Given the description of an element on the screen output the (x, y) to click on. 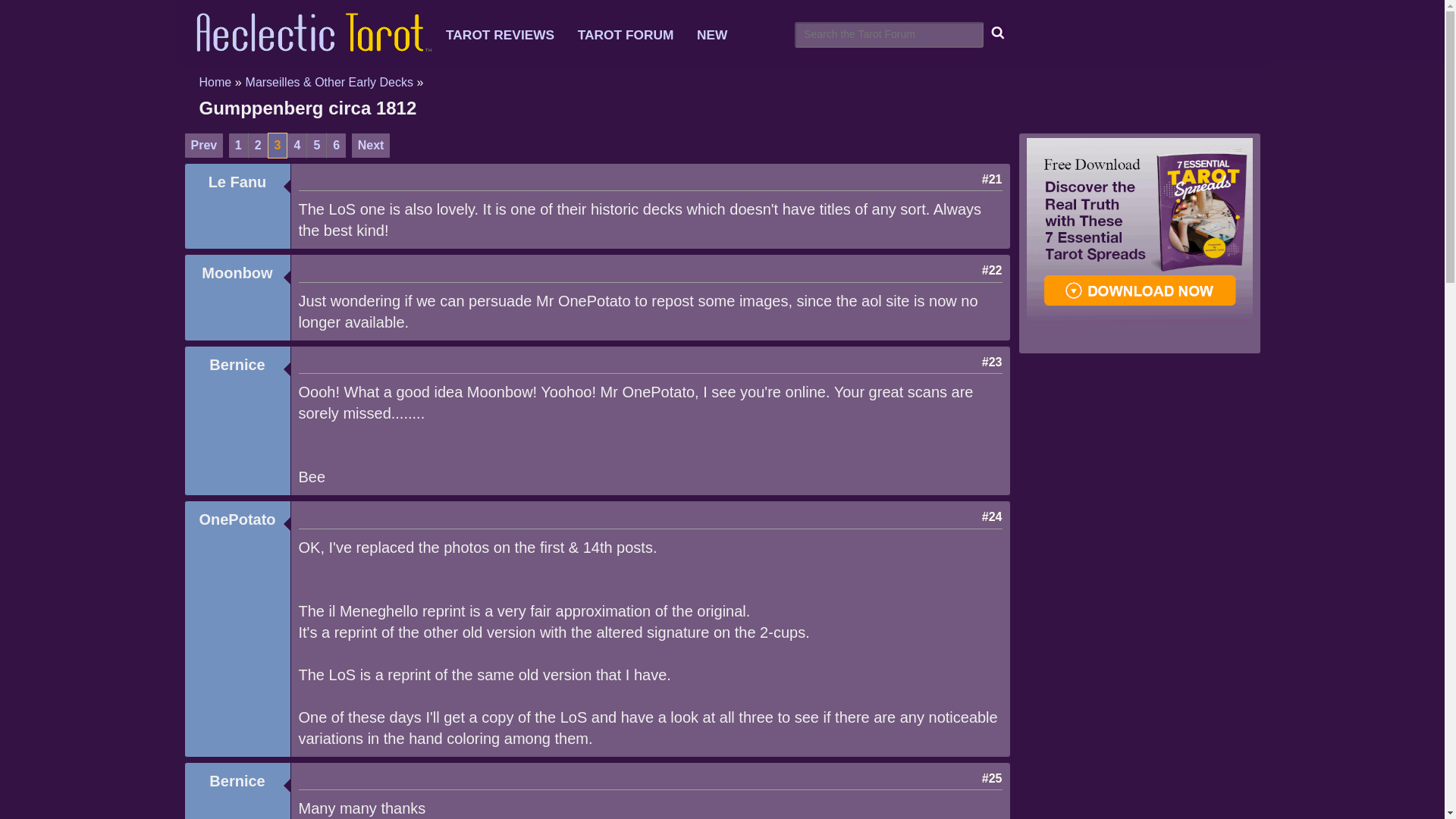
Next (370, 145)
NEW (721, 34)
Prev (203, 145)
TAROT REVIEWS (509, 34)
Home (214, 82)
TAROT FORUM (635, 34)
